Given the description of an element on the screen output the (x, y) to click on. 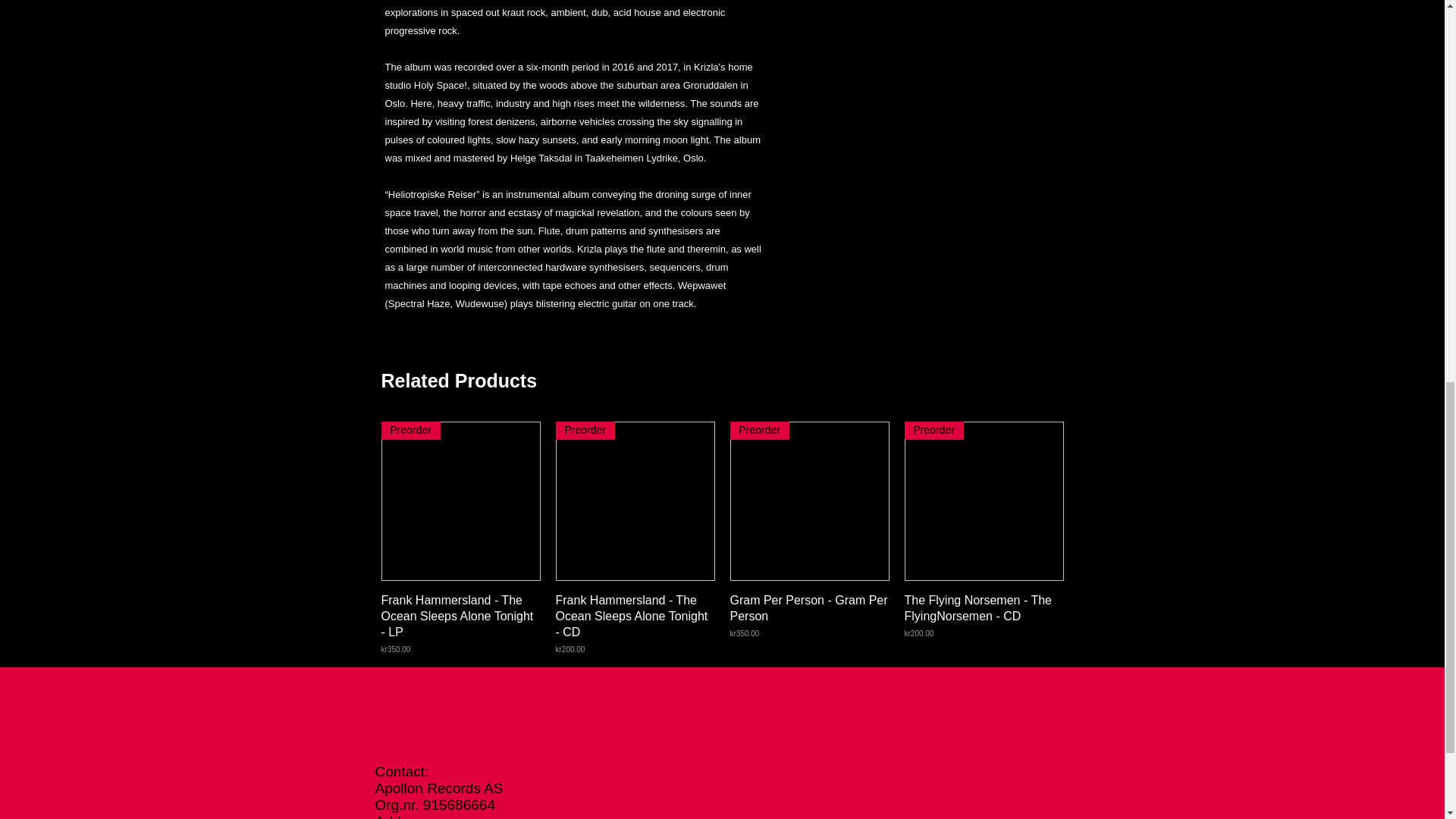
Preorder (983, 623)
Preorder (808, 500)
Preorder (983, 500)
Preorder (460, 500)
